Given the description of an element on the screen output the (x, y) to click on. 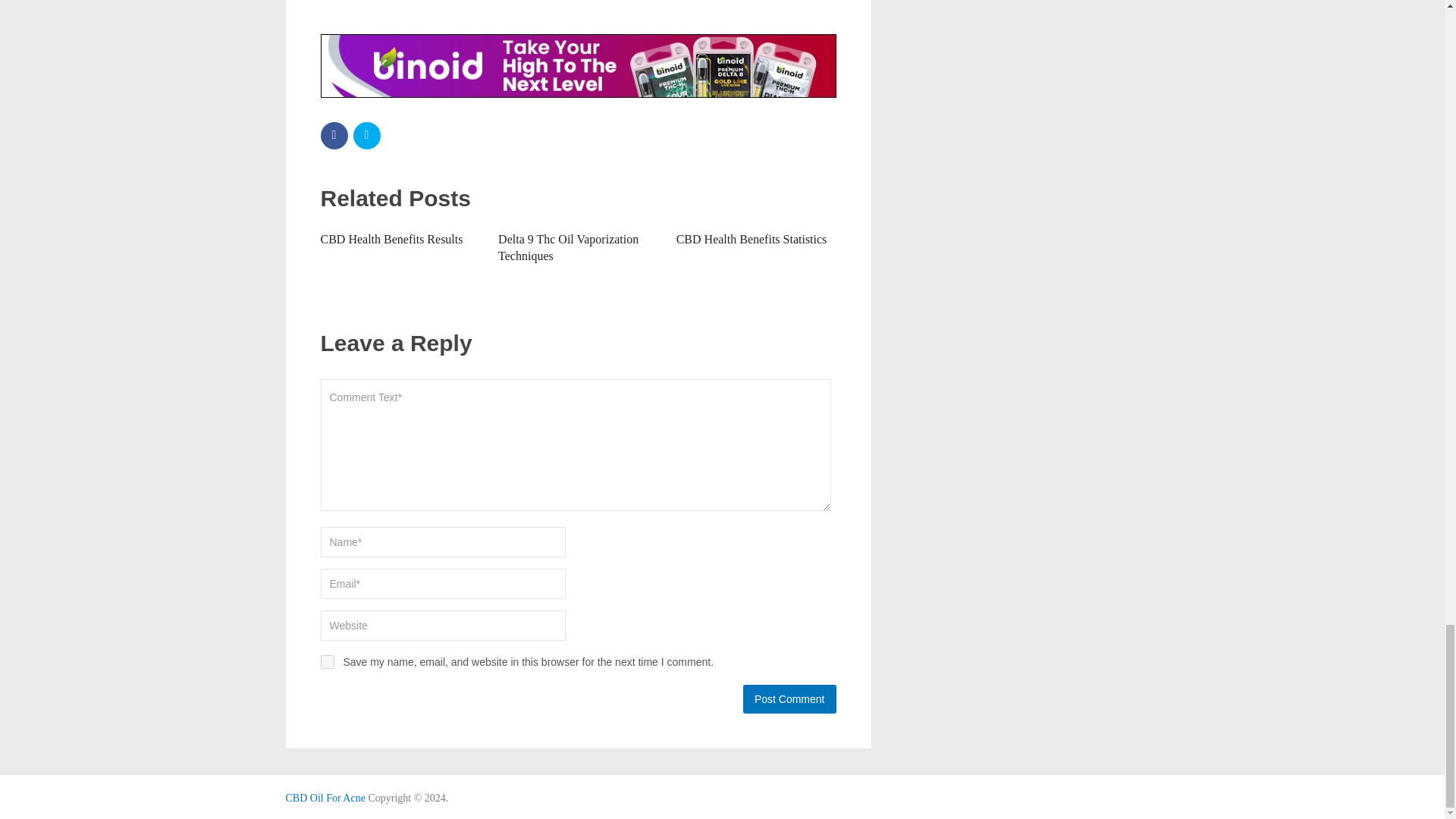
CBD Health Benefits Results (391, 238)
CBD Health Benefits Statistics (752, 238)
Post Comment (788, 698)
Delta 9 Thc Oil Vaporization Techniques (568, 247)
Post Comment (788, 698)
yes (326, 662)
Delta 9 Thc Oil Vaporization Techniques (568, 247)
CBD Health Benefits Results (391, 238)
CBD Health Benefits Statistics (752, 238)
